Given the description of an element on the screen output the (x, y) to click on. 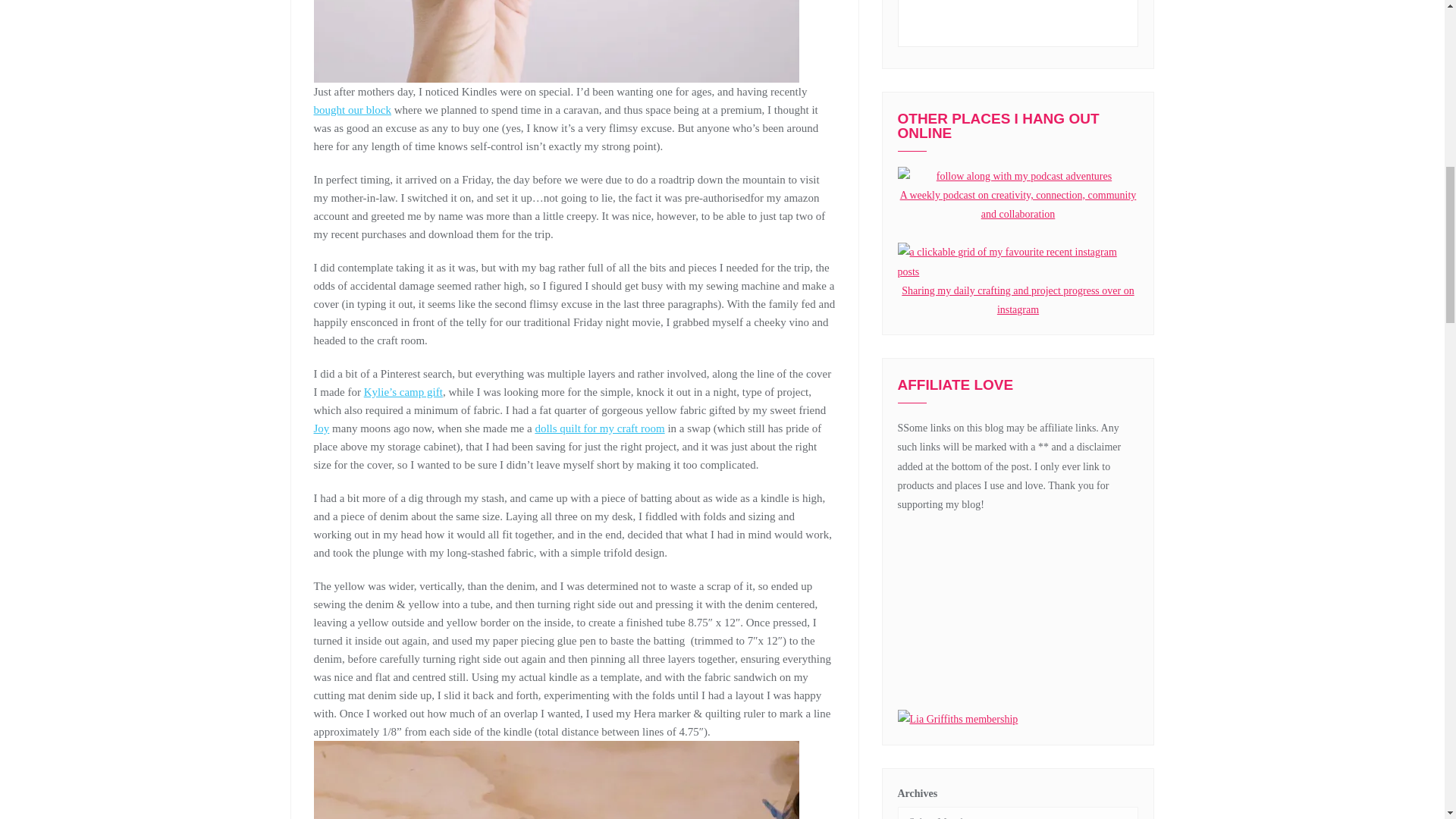
dolls quilt for my craft room (598, 428)
Joy (322, 428)
bought our block (352, 110)
